Given the description of an element on the screen output the (x, y) to click on. 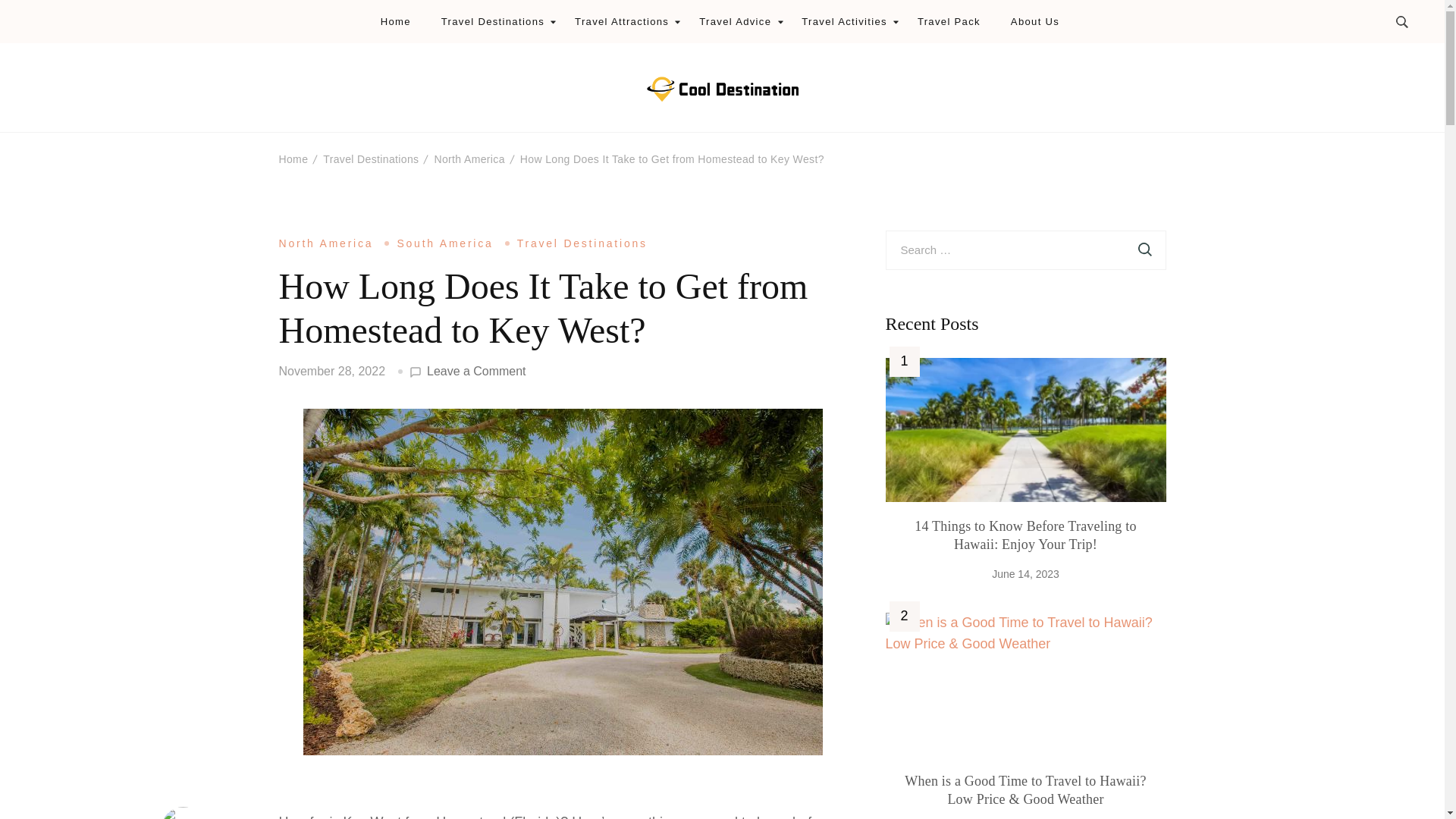
Home (395, 21)
Search (1145, 249)
Travel Destinations (492, 21)
Travel Attractions (621, 21)
Search (1145, 249)
Travel Advice (734, 21)
